Given the description of an element on the screen output the (x, y) to click on. 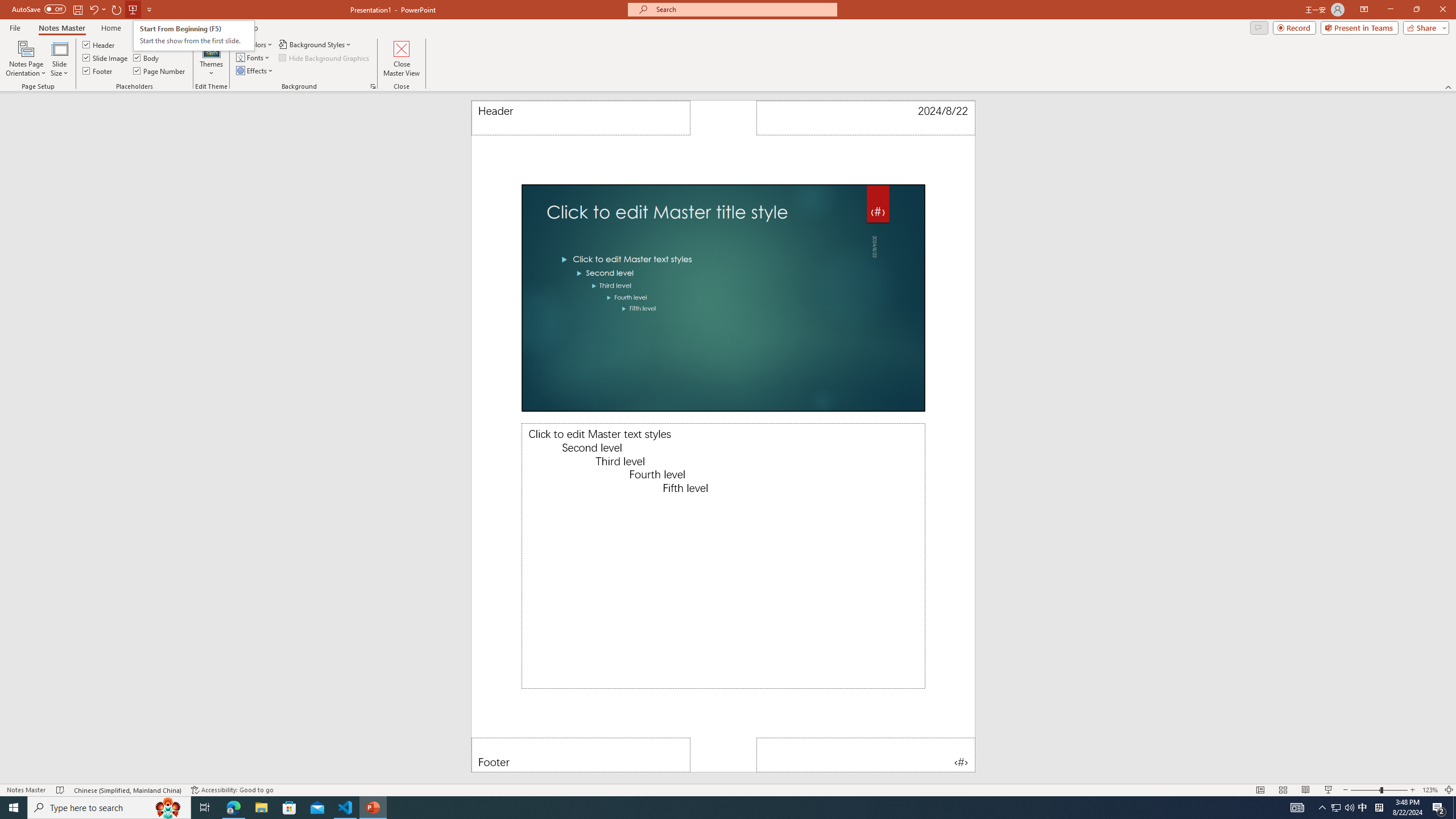
Themes (211, 58)
Colors (255, 44)
Header (580, 117)
Zoom 123% (1430, 790)
